Given the description of an element on the screen output the (x, y) to click on. 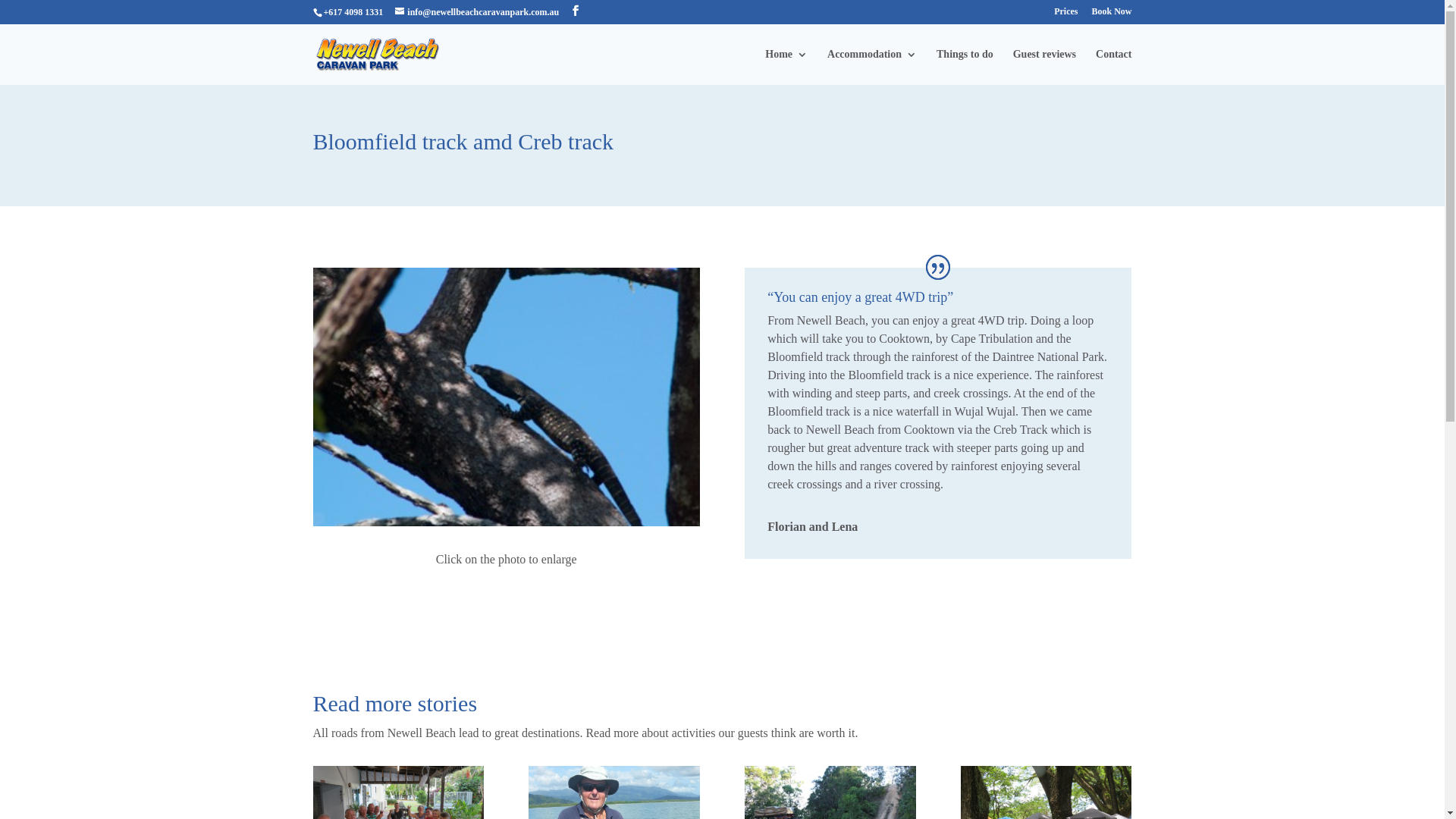
Guest reviews Element type: text (1044, 66)
Book Now Element type: text (1111, 14)
1 Element type: text (486, 492)
Prices Element type: text (1065, 14)
Contact Element type: text (1113, 66)
img_8763 Element type: hover (505, 525)
info@newellbeachcaravanpark.com.au Element type: text (476, 11)
Accommodation Element type: text (871, 66)
2 Element type: text (499, 492)
4 Element type: text (525, 492)
Home Element type: text (786, 66)
Things to do Element type: text (964, 66)
3 Element type: text (512, 492)
